Given the description of an element on the screen output the (x, y) to click on. 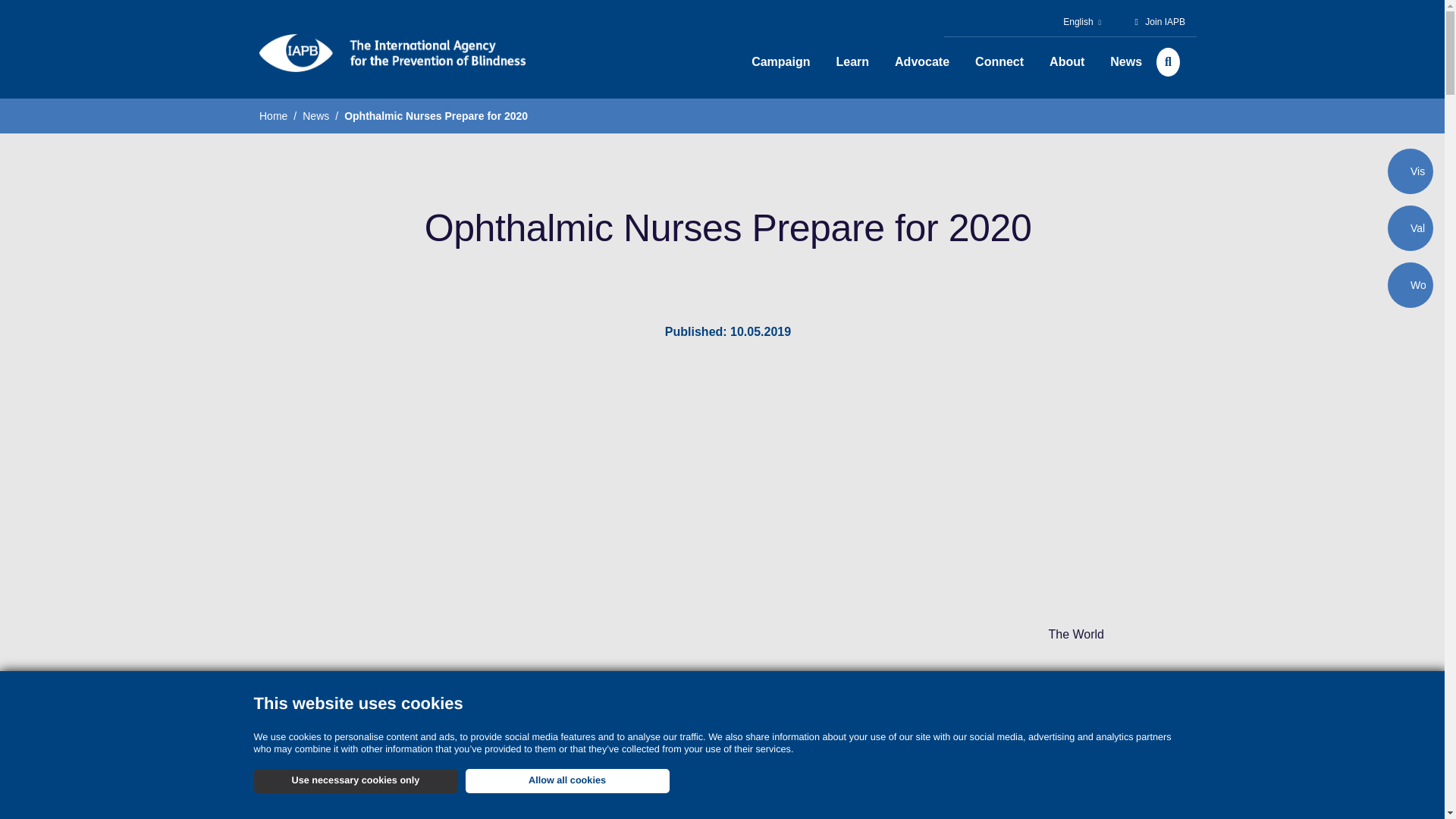
Use necessary cookies only (355, 781)
Allow all cookies (567, 781)
